Given the description of an element on the screen output the (x, y) to click on. 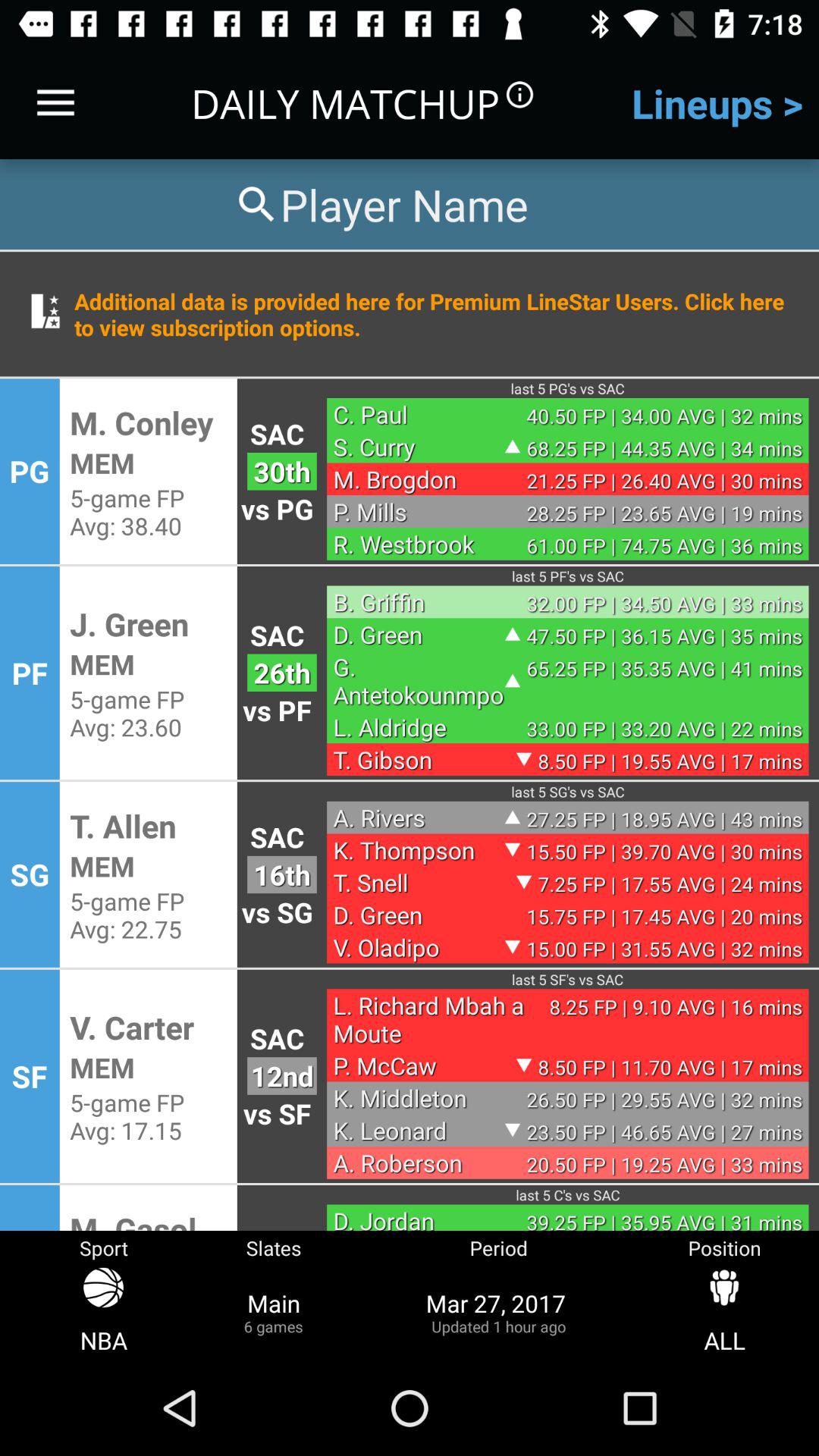
turn on icon below sac item (281, 1075)
